Given the description of an element on the screen output the (x, y) to click on. 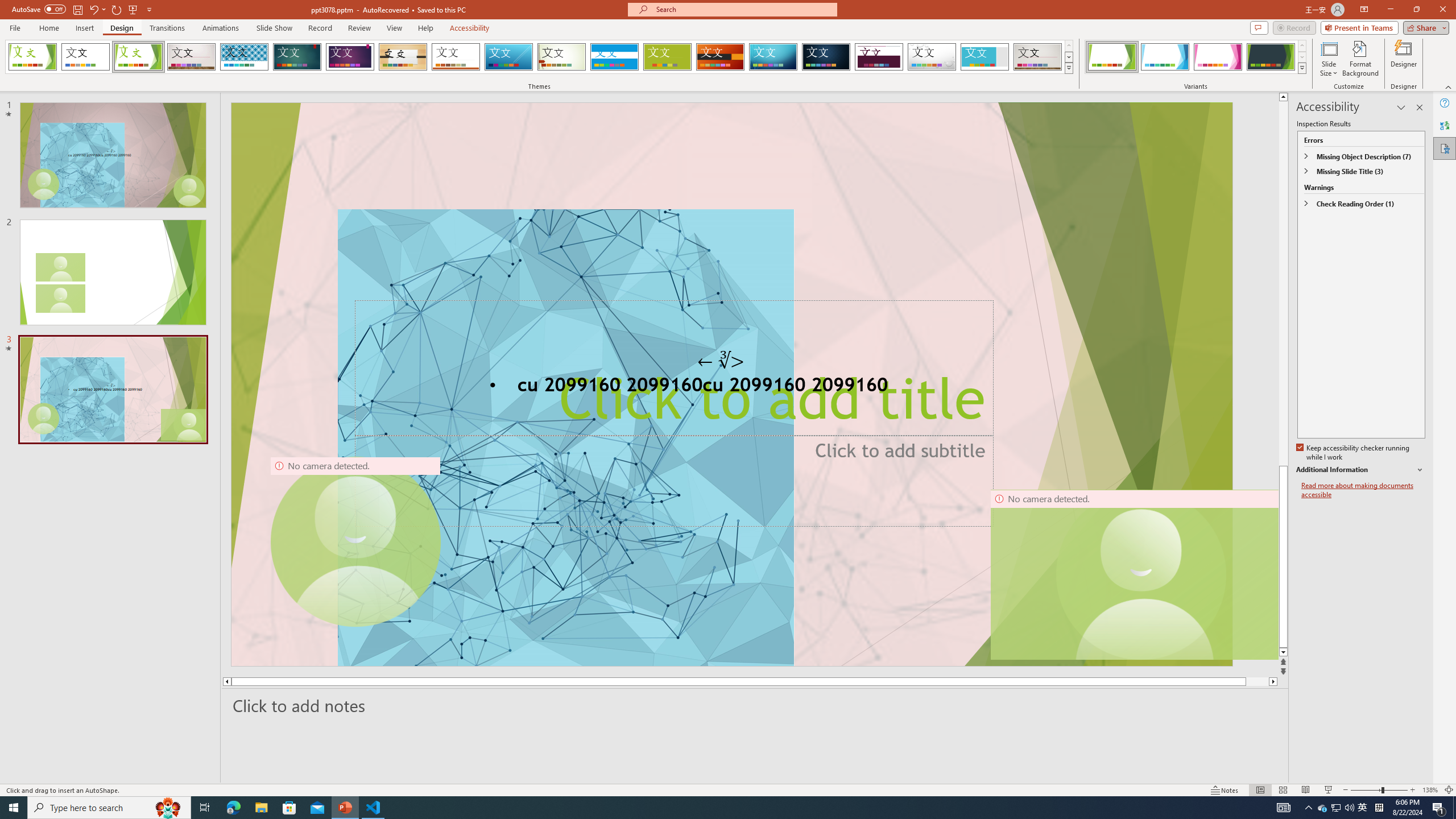
Camera 11, No camera detected. (1141, 574)
Facet (138, 56)
Variants (1301, 67)
Ion (296, 56)
Dividend (879, 56)
Basis (667, 56)
